Given the description of an element on the screen output the (x, y) to click on. 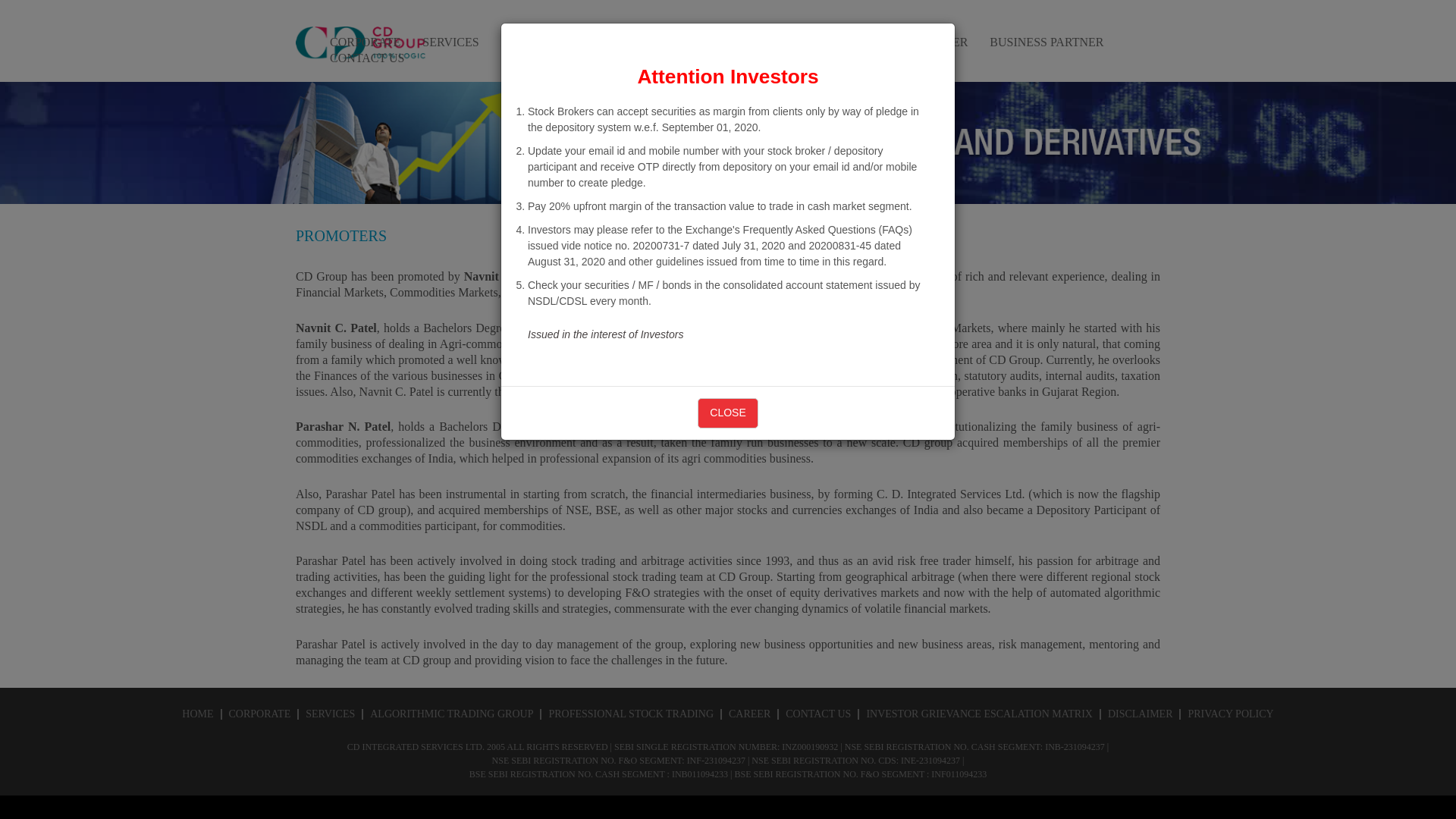
BUSINESS PARTNER (1046, 42)
CORPORATE (365, 42)
INVESTOR GRIEVANCE ESCALATION MATRIX (979, 713)
PRIVACY POLICY (1230, 713)
ALGORITHMIC TRADING GROUP (593, 42)
CONTACT US (367, 57)
CLOSE (727, 413)
CAREER (749, 713)
PROFESSIONAL STOCK TRADING (630, 713)
CAREER (944, 42)
DISCLAIMER (1140, 713)
PROFESSIONAL STOCK TRADING (804, 42)
CONTACT US (818, 713)
SERVICES (450, 42)
CORPORATE (259, 713)
